Given the description of an element on the screen output the (x, y) to click on. 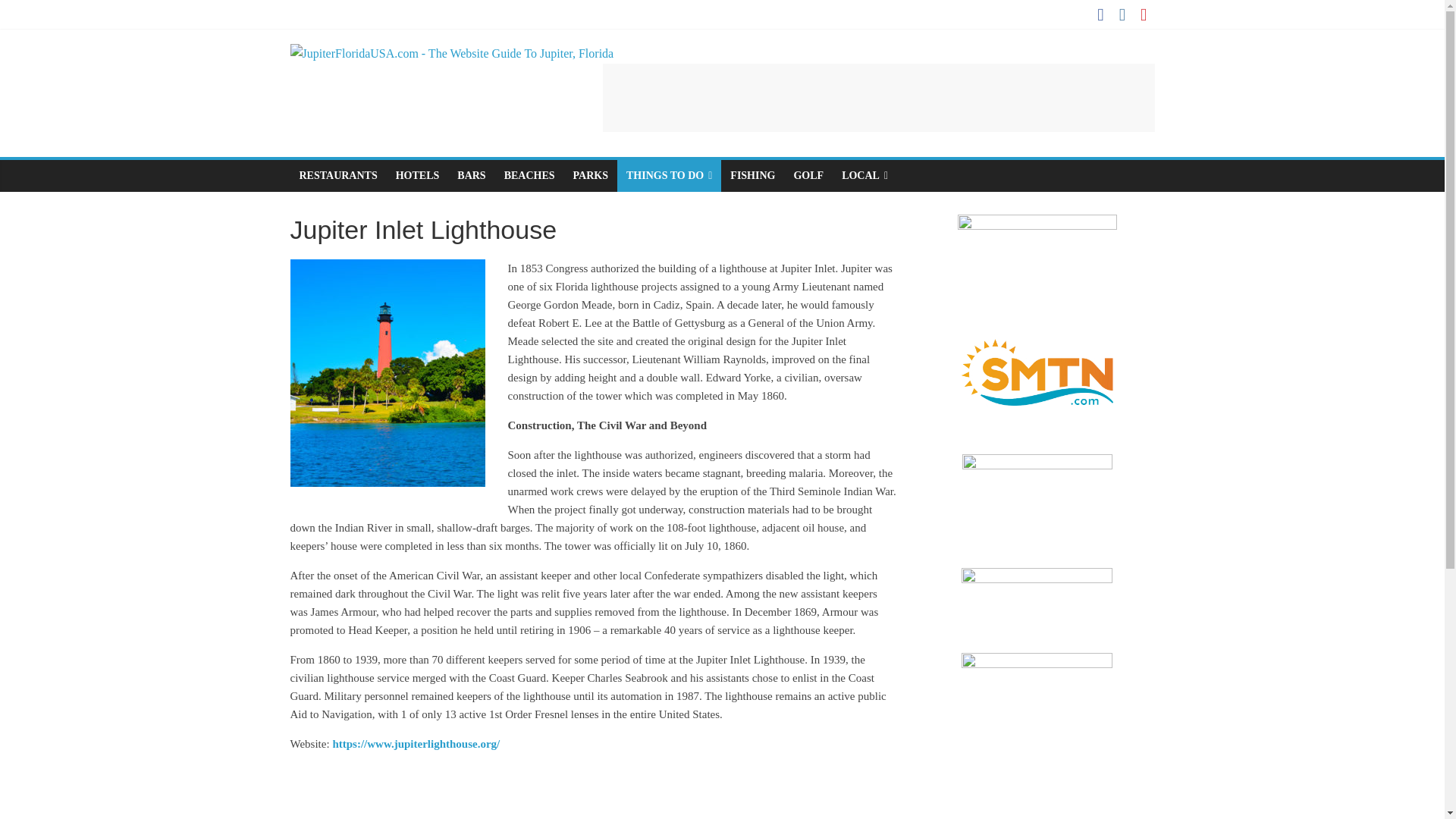
BEACHES (529, 175)
LOCAL (864, 175)
PARKS (590, 175)
RESTAURANTS (337, 175)
THINGS TO DO (668, 175)
HOTELS (417, 175)
FISHING (752, 175)
GOLF (808, 175)
BARS (471, 175)
